Given the description of an element on the screen output the (x, y) to click on. 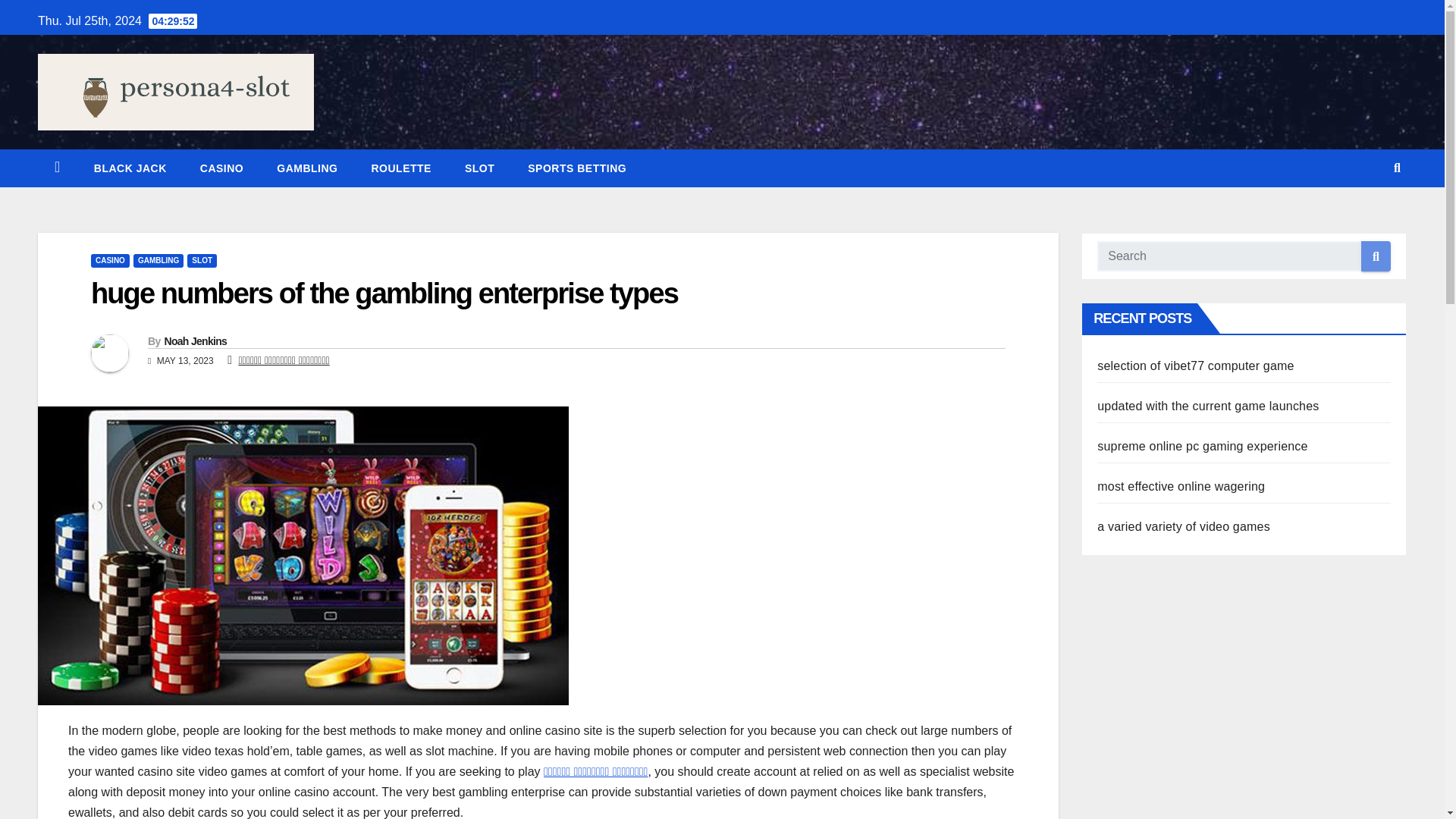
CASINO (109, 260)
CASINO (221, 168)
GAMBLING (306, 168)
SPORTS BETTING (577, 168)
GAMBLING (306, 168)
ROULETTE (399, 168)
ROULETTE (399, 168)
SLOT (201, 260)
SLOT (479, 168)
SPORTS BETTING (577, 168)
BLACK JACK (130, 168)
Permalink to: huge numbers of the gambling enterprise types (384, 293)
GAMBLING (158, 260)
CASINO (221, 168)
SLOT (479, 168)
